Given the description of an element on the screen output the (x, y) to click on. 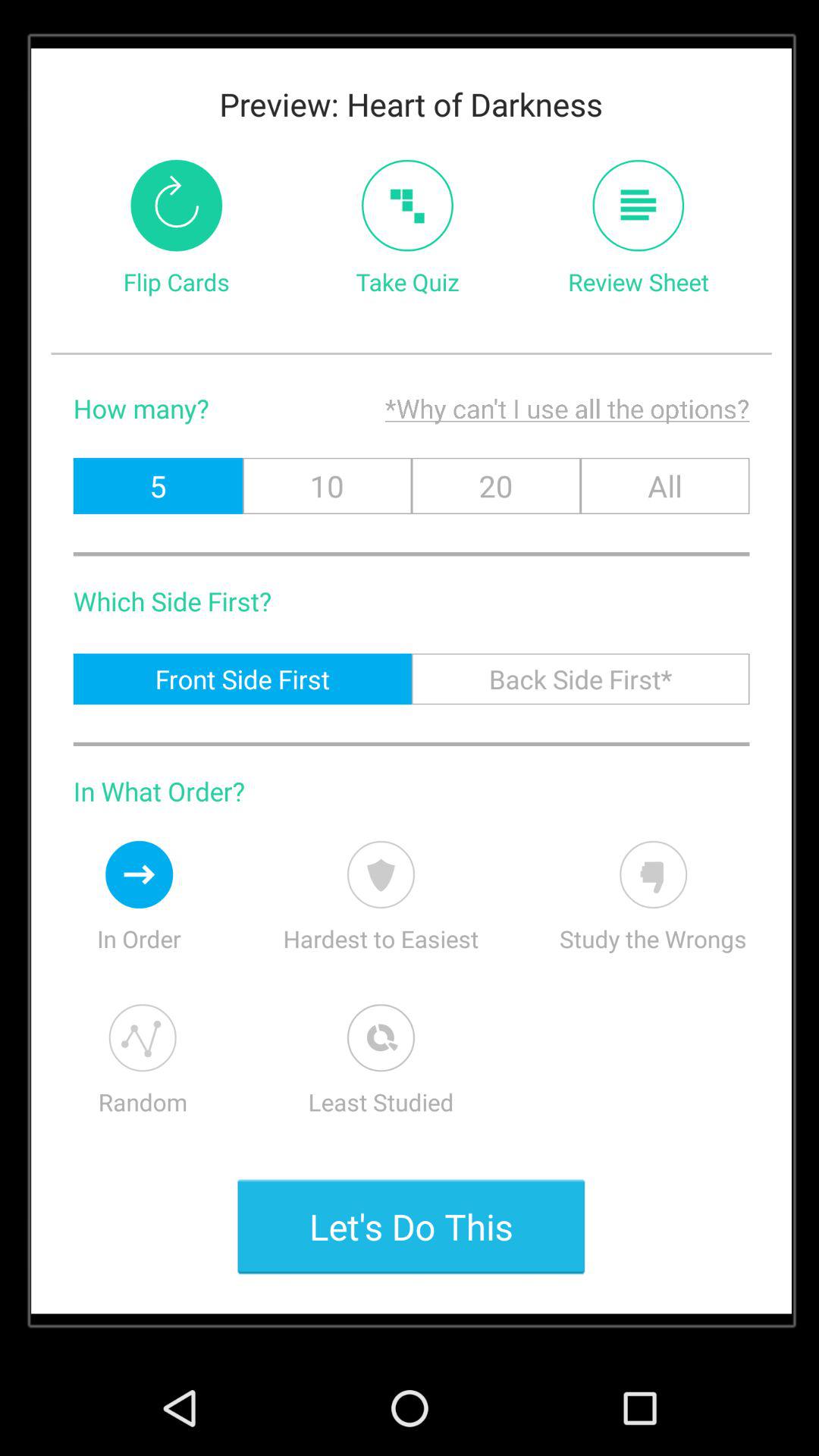
reverse order of cards (176, 205)
